Given the description of an element on the screen output the (x, y) to click on. 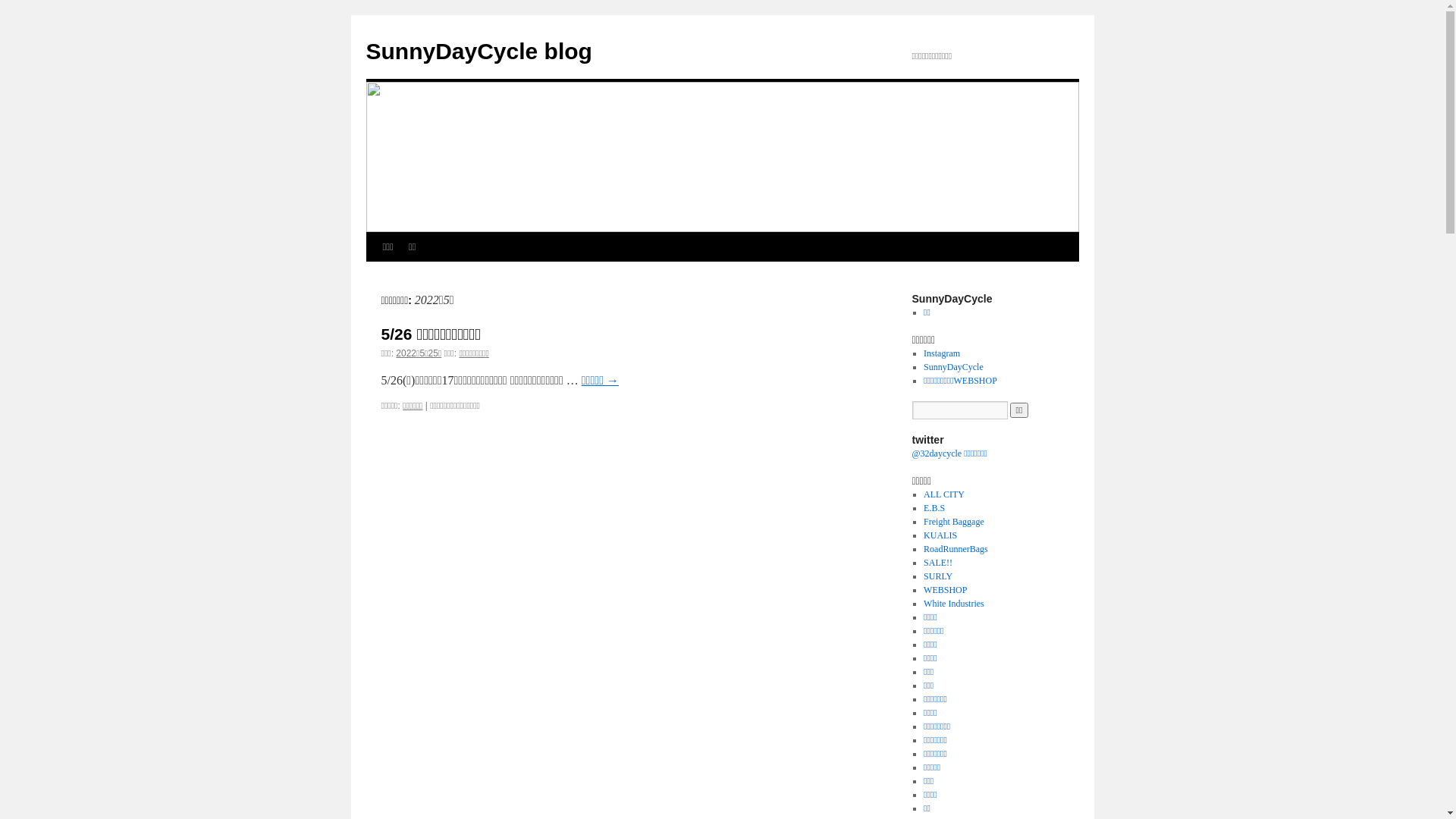
RoadRunnerBags Element type: text (955, 548)
SALE!! Element type: text (937, 562)
SunnyDayCycle Element type: text (953, 366)
SunnyDayCycle blog Element type: text (478, 50)
Freight Baggage Element type: text (953, 521)
Instagram Element type: text (941, 353)
White Industries Element type: text (953, 603)
E.B.S Element type: text (933, 507)
WEBSHOP Element type: text (944, 589)
SURLY Element type: text (937, 576)
ALL CITY Element type: text (943, 494)
KUALIS Element type: text (940, 535)
